Given the description of an element on the screen output the (x, y) to click on. 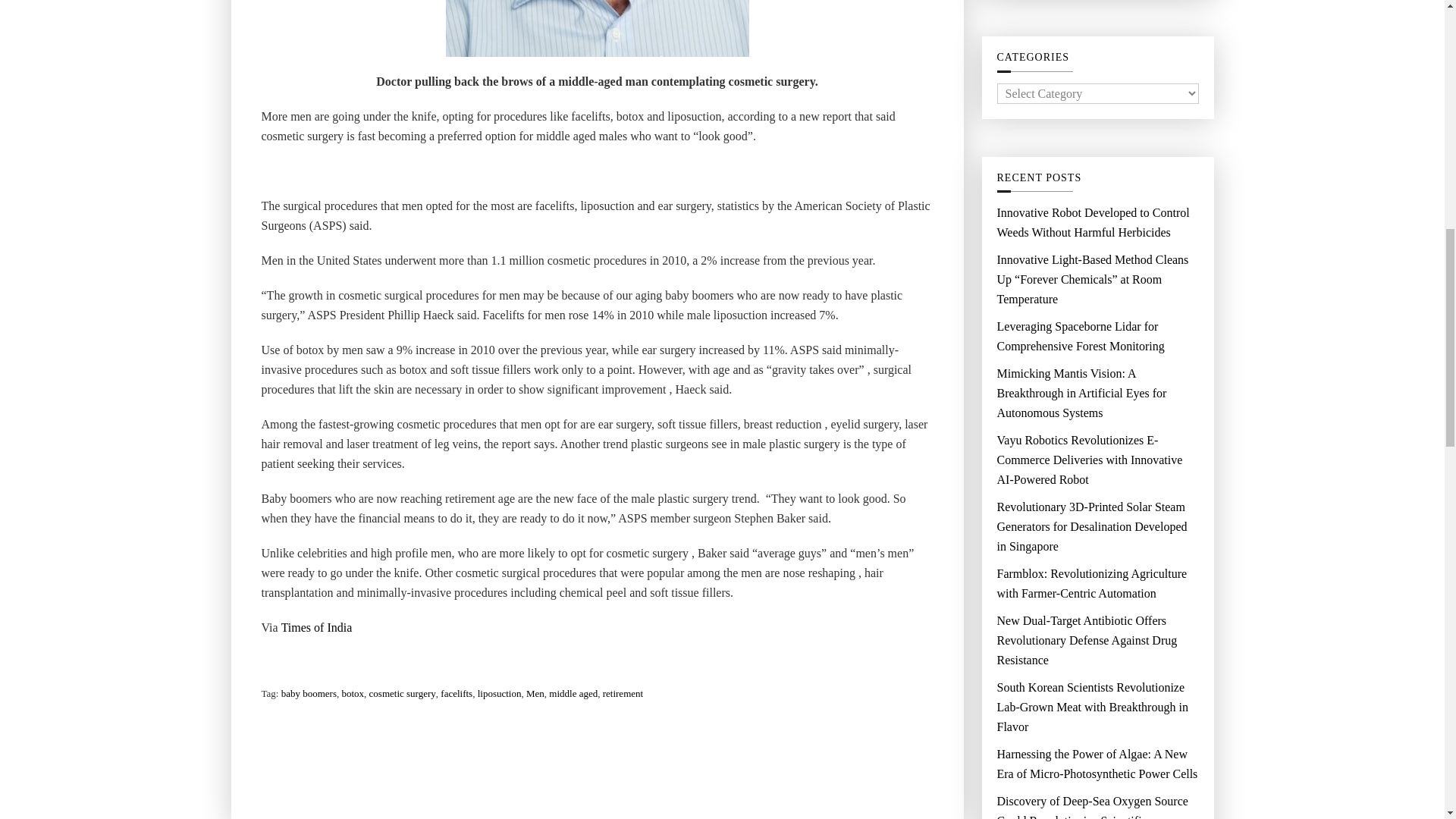
botox (352, 693)
retirement (622, 693)
liposuction (499, 693)
Times of India (316, 628)
Men (534, 693)
cosmetic surgery (597, 28)
cosmetic surgery (402, 693)
facelifts (456, 693)
middle aged (572, 693)
baby boomers (308, 693)
